Given the description of an element on the screen output the (x, y) to click on. 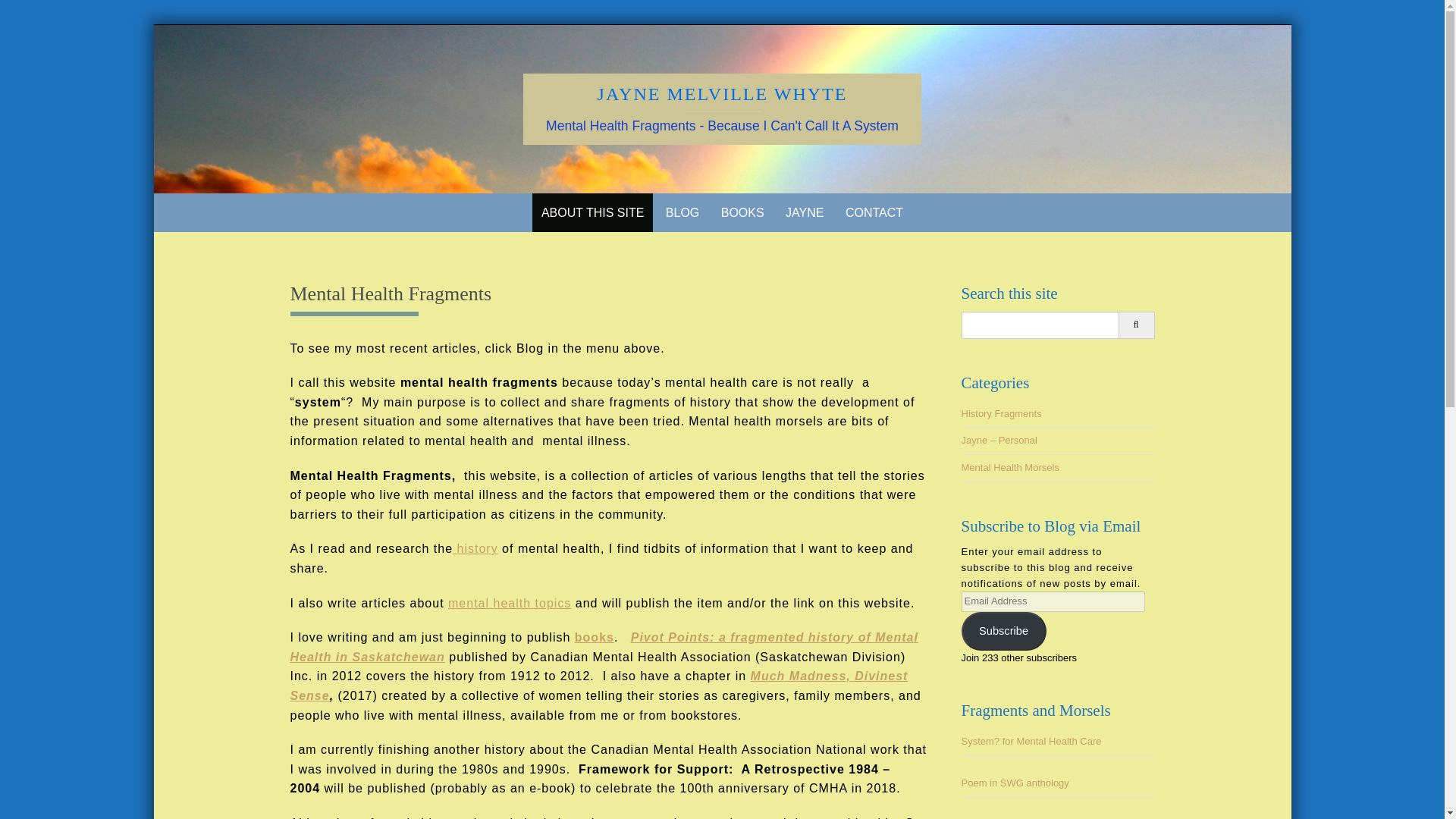
Subscribe (1003, 630)
Much Madness, Divinest Sense (598, 685)
mental health topics (509, 603)
history (474, 548)
JAYNE MELVILLE WHYTE (721, 94)
Poem in SWG anthology (1014, 782)
ABOUT THIS SITE (592, 212)
JAYNE (804, 212)
System? for Mental Health Care (1031, 740)
History Fragments (1001, 413)
CONTACT (873, 212)
books (594, 636)
Mental Health Morsels (1009, 467)
